Given the description of an element on the screen output the (x, y) to click on. 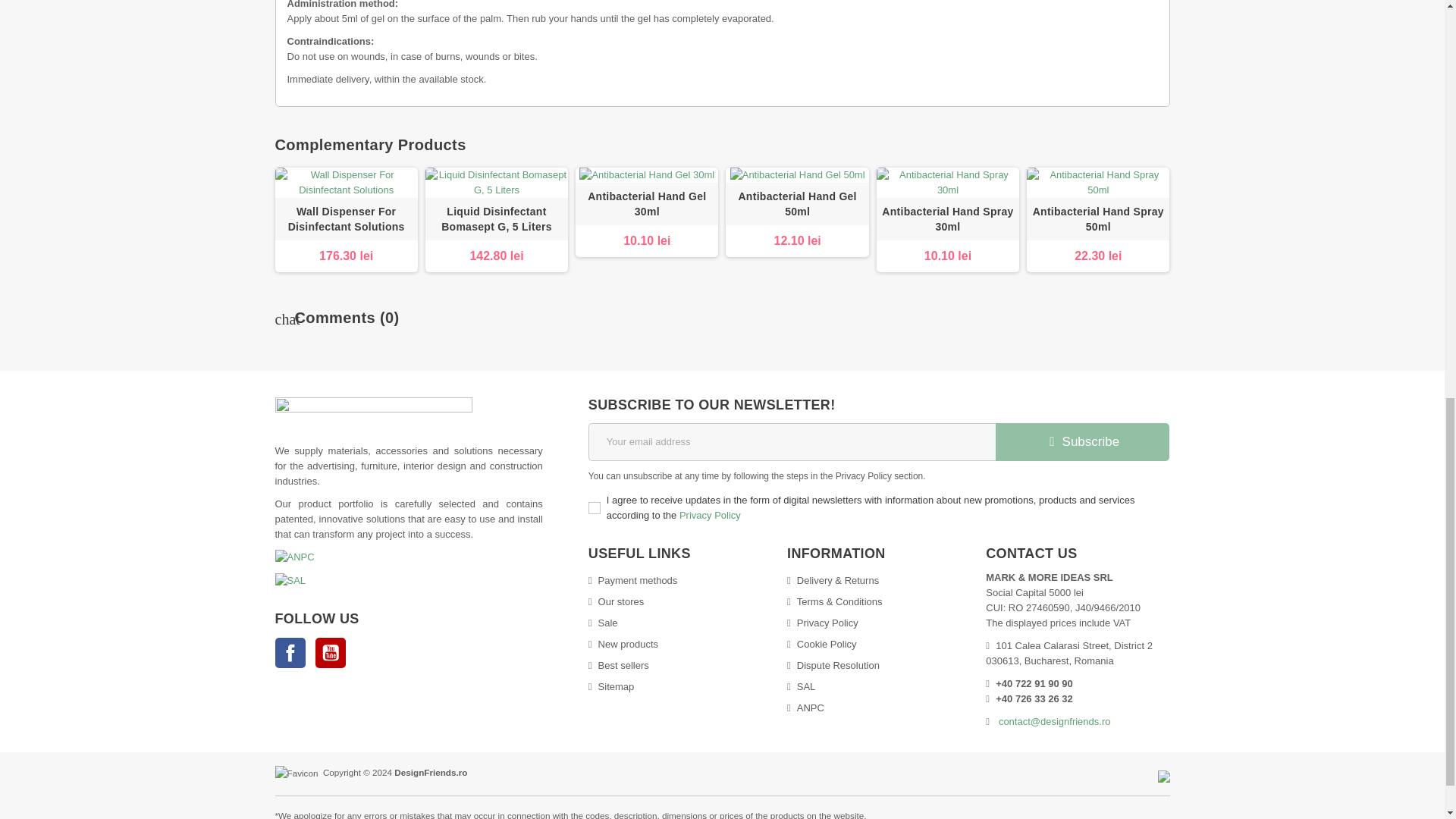
Wall Dispenser For Disinfectant Solutions (345, 182)
Antibacterial Hand Spray 30ml (947, 182)
Wall Dispenser For Disinfectant Solutions (346, 218)
Liquid Disinfectant Bomasept G, 5 Liters (496, 182)
Antibacterial Hand Spray 50ml (1097, 219)
Antibacterial Hand Spray 50ml (1097, 182)
Antibacterial Hand Gel 30ml (646, 204)
Antibacterial Hand Gel 50ml (796, 204)
Wall Dispenser For Disinfectant Solutions (345, 219)
Antibacterial Hand Gel 50ml (796, 203)
